Given the description of an element on the screen output the (x, y) to click on. 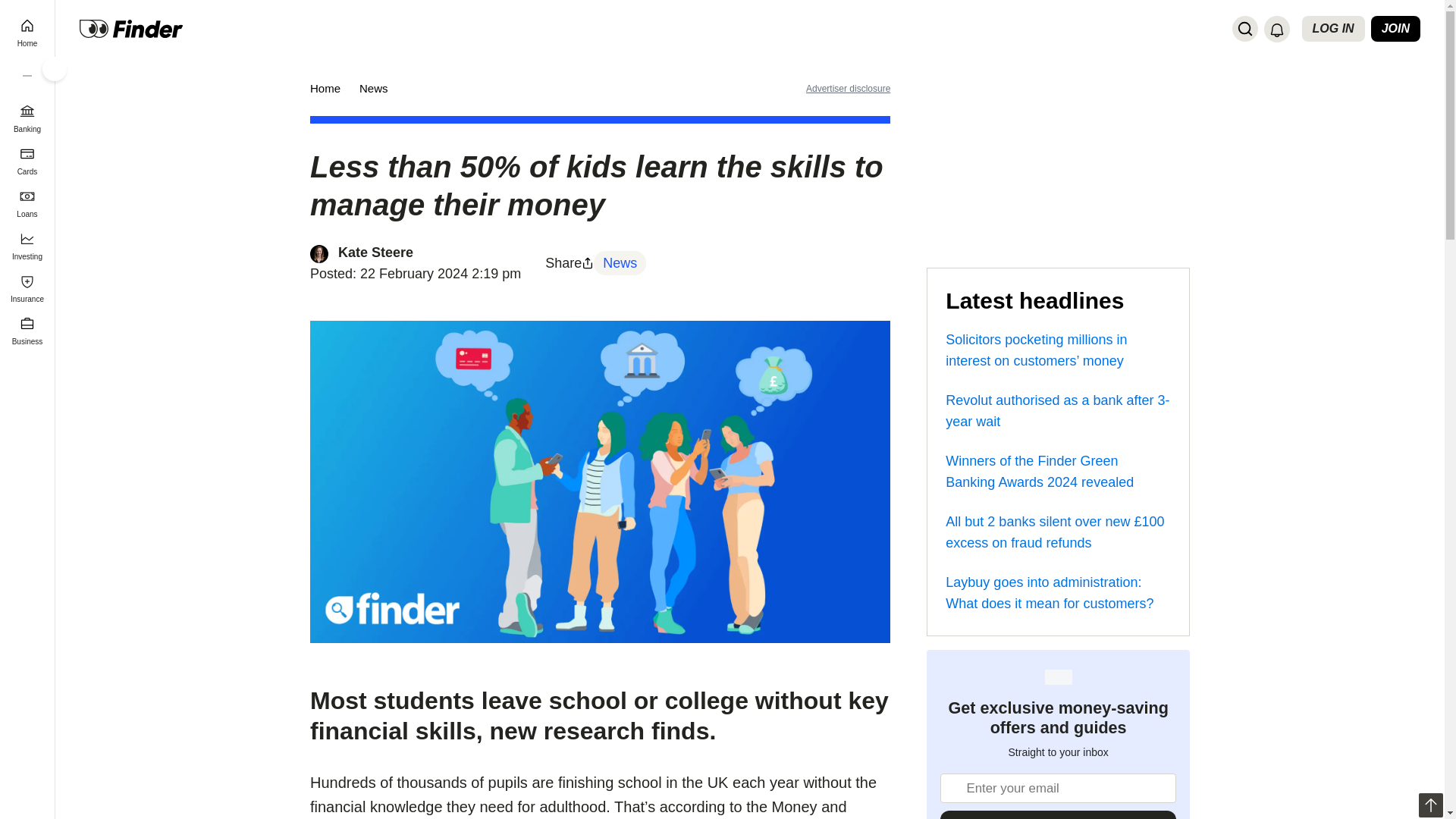
Back to Top (1430, 805)
Important information about this website (847, 88)
